Given the description of an element on the screen output the (x, y) to click on. 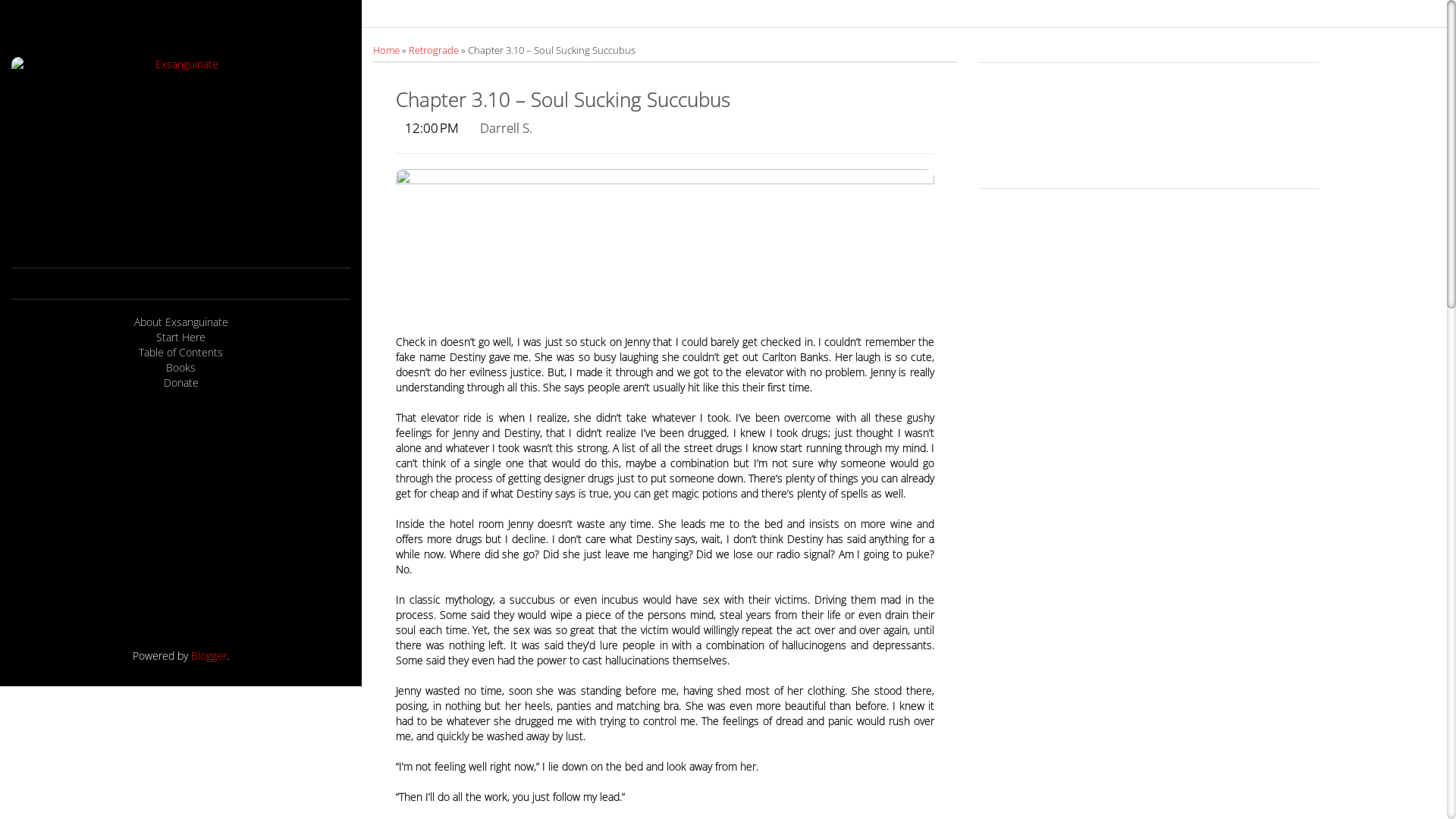
Start Here Element type: text (180, 337)
Table of Contents Element type: text (180, 352)
Darrell S. Element type: text (506, 127)
Books Element type: text (180, 367)
Advertisement Element type: hover (180, 519)
About Exsanguinate Element type: text (180, 321)
Blogger Element type: text (208, 655)
Retrograde Element type: text (434, 49)
Home Element type: text (387, 49)
Donate Element type: text (180, 382)
